Given the description of an element on the screen output the (x, y) to click on. 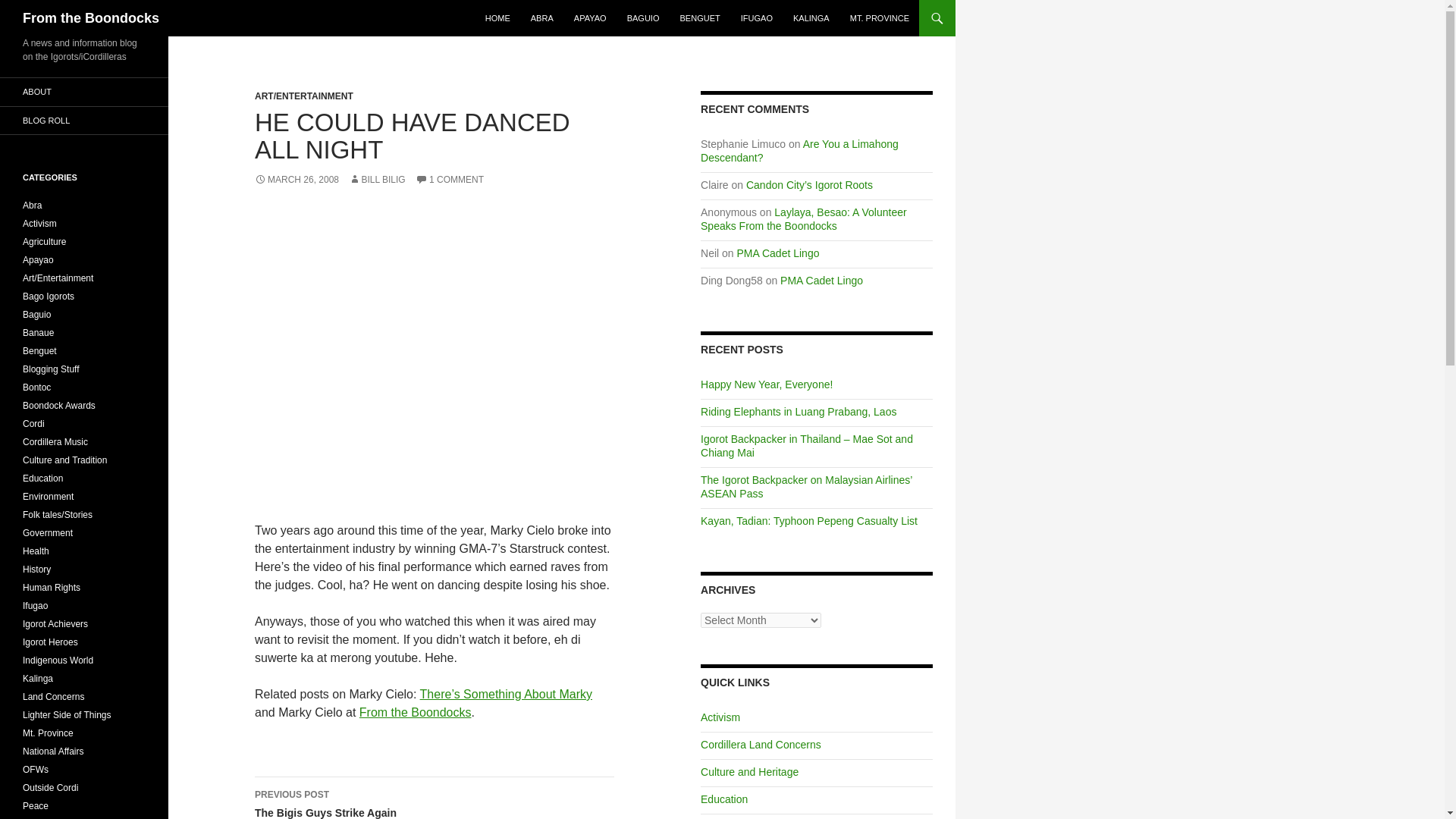
Riding Elephants in Luang Prabang, Laos (798, 411)
Are You a Limahong Descendant? (799, 150)
KALINGA (811, 18)
BILL BILIG (376, 179)
Kayan, Tadian: Typhoon Pepeng Casualty List (808, 521)
BENGUET (700, 18)
1 COMMENT (448, 179)
From the Boondocks (415, 712)
PMA Cadet Lingo (777, 253)
Activism (719, 717)
